Given the description of an element on the screen output the (x, y) to click on. 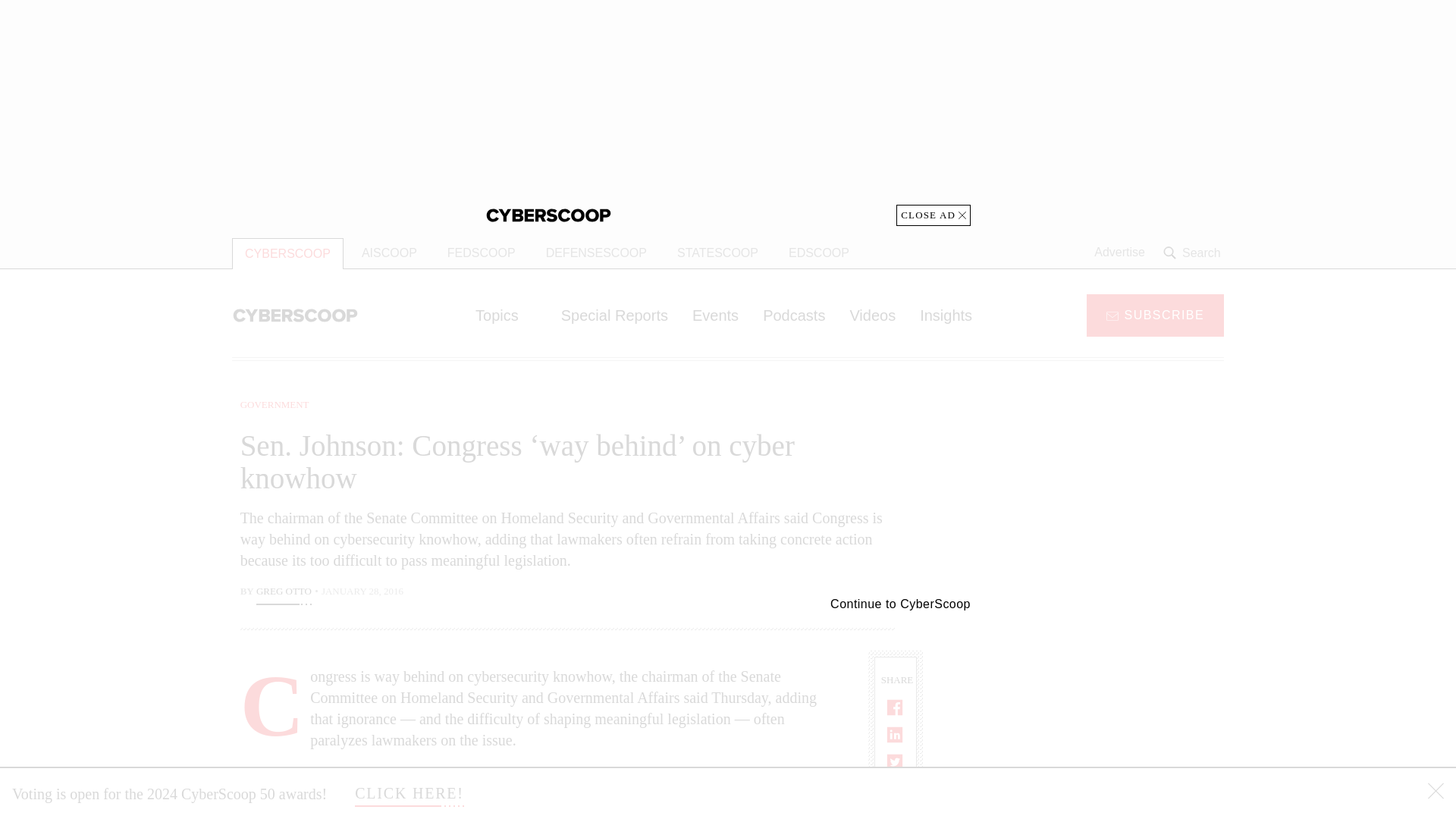
Podcasts (794, 315)
Videos (872, 315)
Insights (945, 315)
3rd party ad content (1101, 492)
FEDSCOOP (481, 253)
CYBERSCOOP (287, 253)
EDSCOOP (818, 253)
STATESCOOP (717, 253)
